Given the description of an element on the screen output the (x, y) to click on. 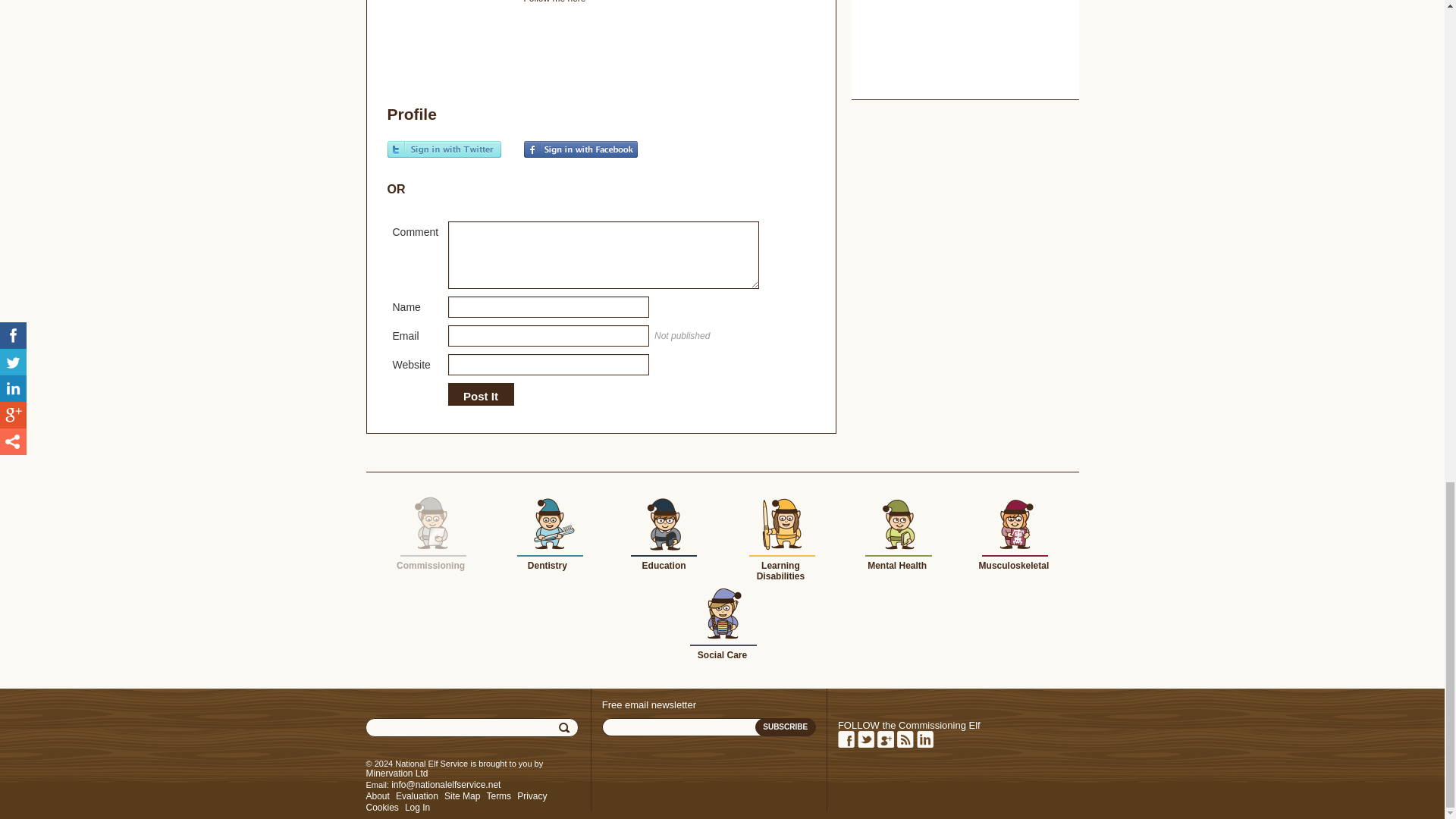
Search (565, 728)
Subscribe (785, 727)
Post It (479, 396)
